Given the description of an element on the screen output the (x, y) to click on. 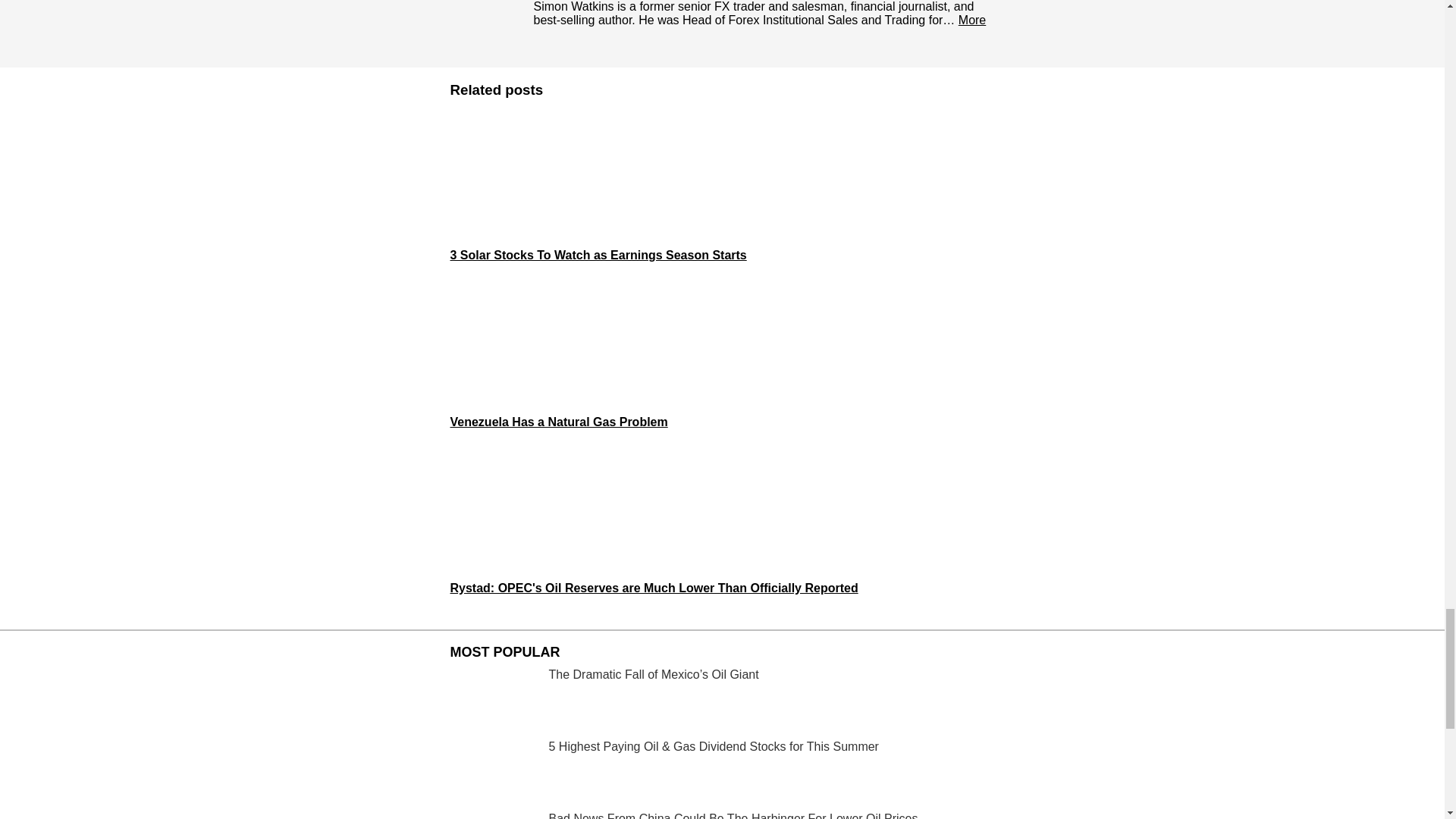
Venezuela Has a Natural Gas Problem (721, 354)
More (971, 19)
3 Solar Stocks To Watch as Earnings Season Starts (721, 187)
